Given the description of an element on the screen output the (x, y) to click on. 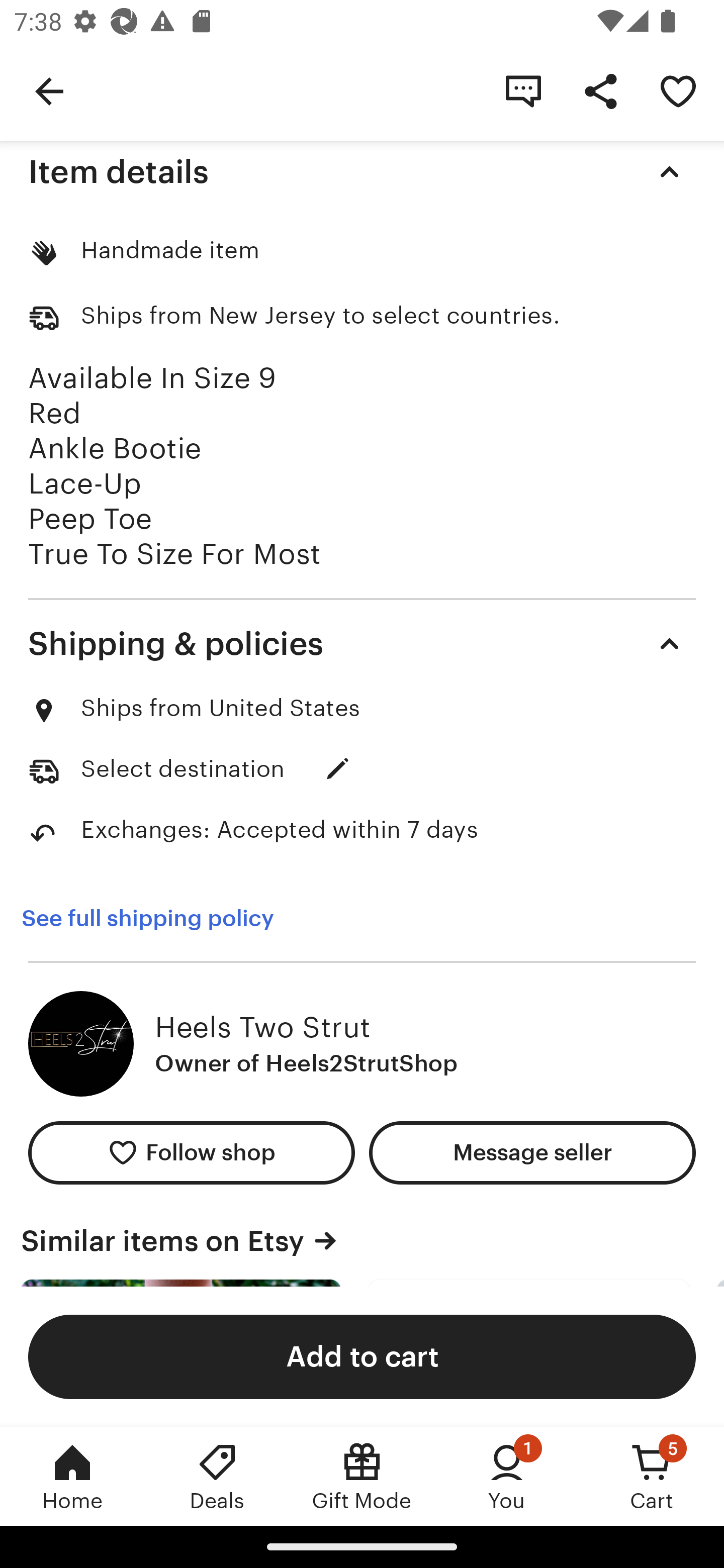
Navigate up (49, 90)
Contact shop (523, 90)
Share (600, 90)
Remove Katrina Peep Toe-Red from your favorites (678, 90)
Item details (362, 171)
Shipping & policies (362, 643)
Update (337, 767)
See full shipping policy (147, 918)
Follow shop Follow Heels2StrutShop (191, 1152)
Message seller (532, 1152)
Similar items on Etsy  (362, 1240)
Add to cart (361, 1355)
Deals (216, 1475)
Gift Mode (361, 1475)
You, 1 new notification You (506, 1475)
Cart, 5 new notifications Cart (651, 1475)
